Given the description of an element on the screen output the (x, y) to click on. 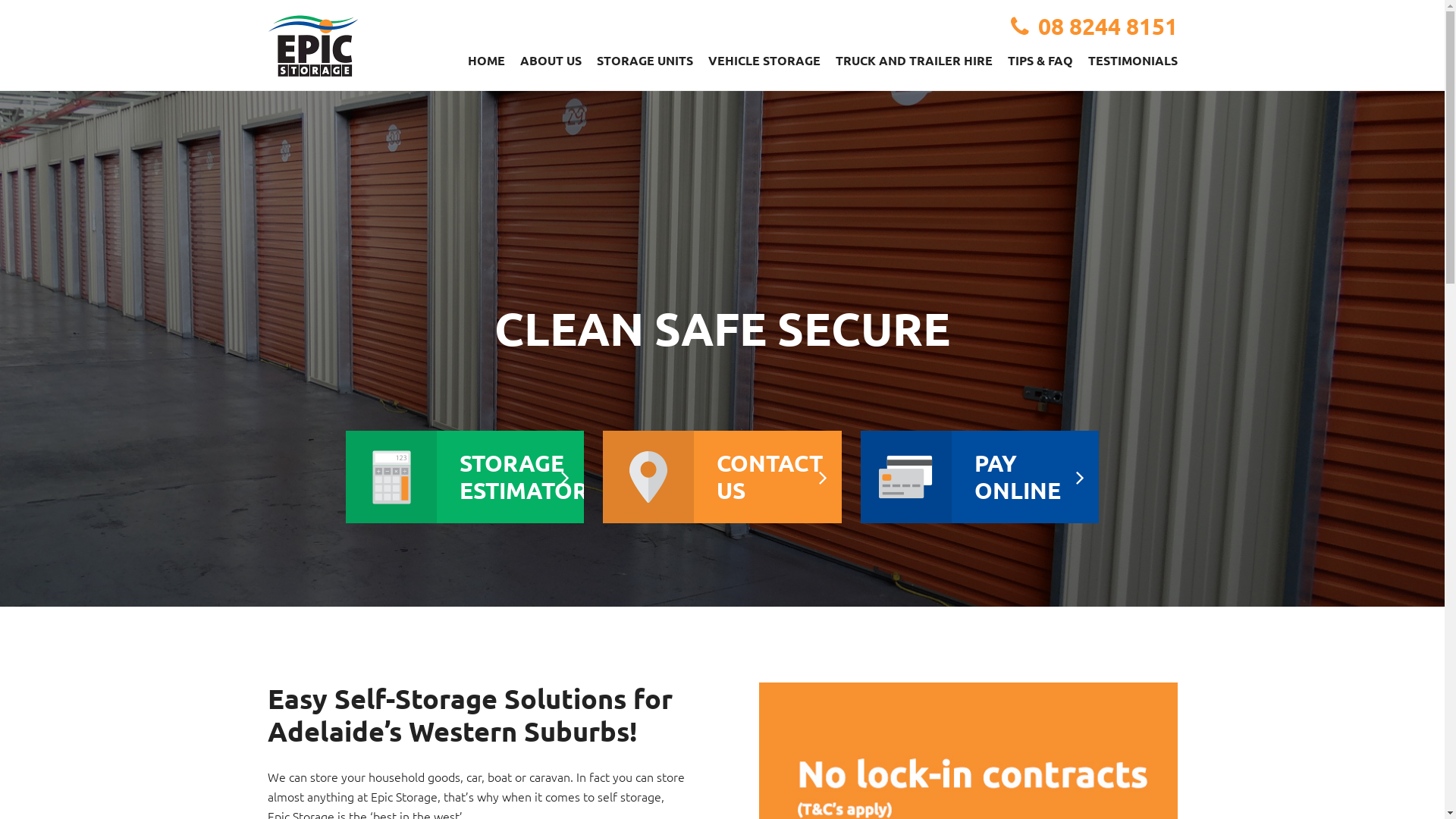
HOME Element type: text (485, 60)
ABOUT US Element type: text (550, 60)
TRUCK AND TRAILER HIRE Element type: text (913, 60)
STORAGE UNITS Element type: text (644, 60)
CONTACT
US Element type: text (721, 476)
STORAGE
ESTIMATOR Element type: text (464, 476)
PAY
ONLINE Element type: text (979, 476)
08 8244 8151 Element type: text (1106, 26)
VEHICLE STORAGE Element type: text (764, 60)
TIPS & FAQ Element type: text (1039, 60)
TESTIMONIALS Element type: text (1131, 60)
